Given the description of an element on the screen output the (x, y) to click on. 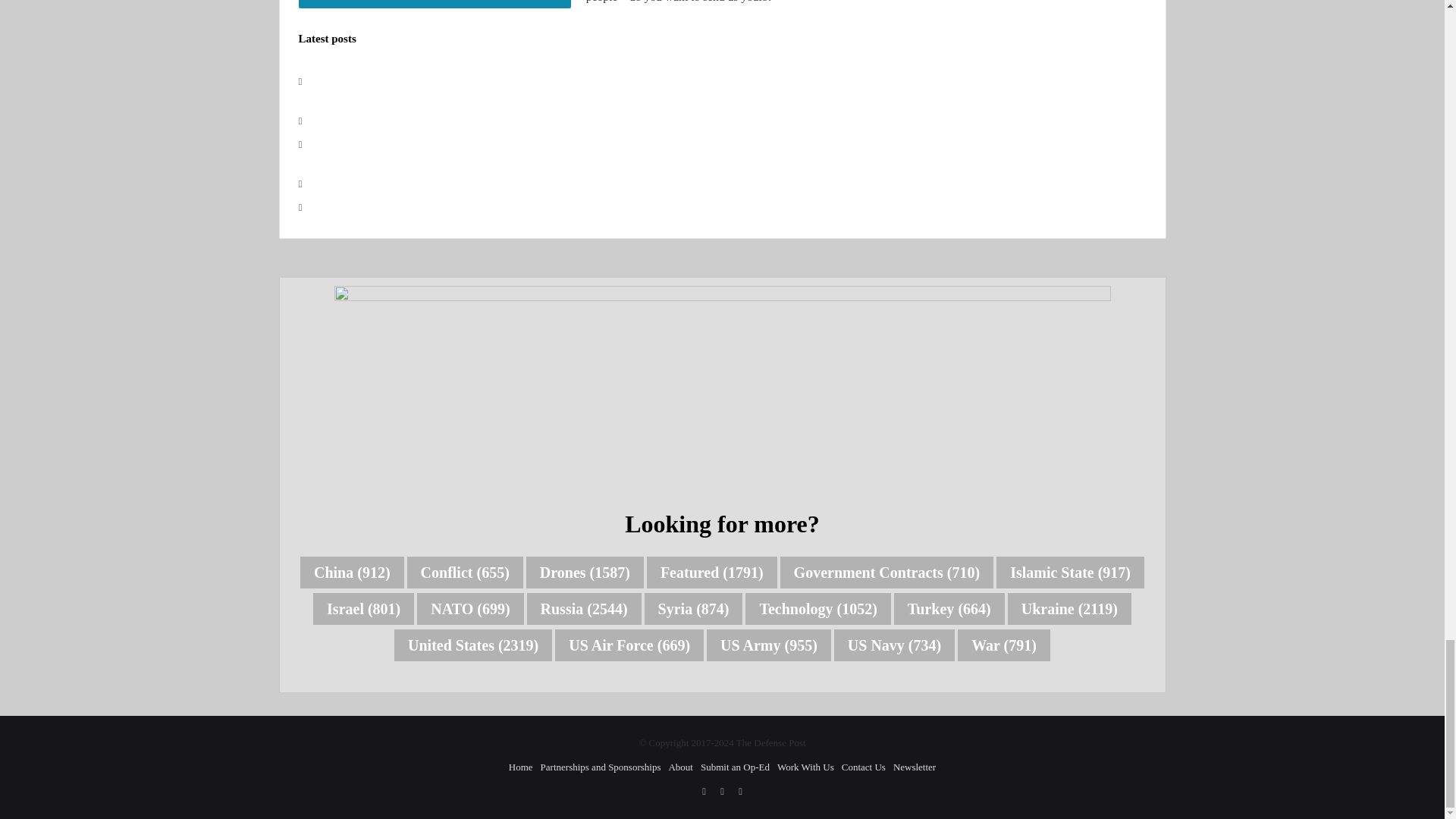
Subscribe (434, 4)
